Given the description of an element on the screen output the (x, y) to click on. 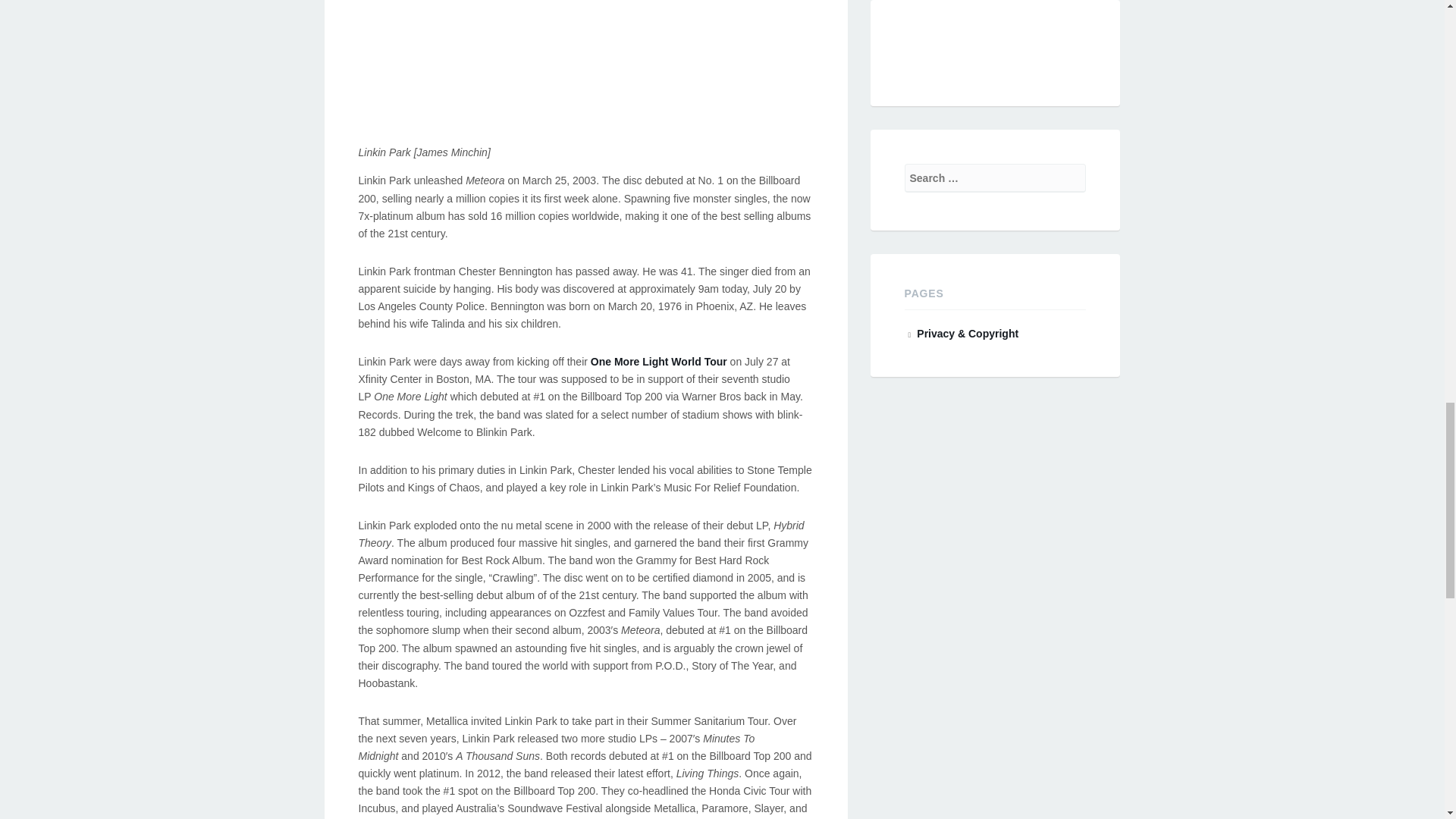
One More Light World Tour (658, 361)
